Given the description of an element on the screen output the (x, y) to click on. 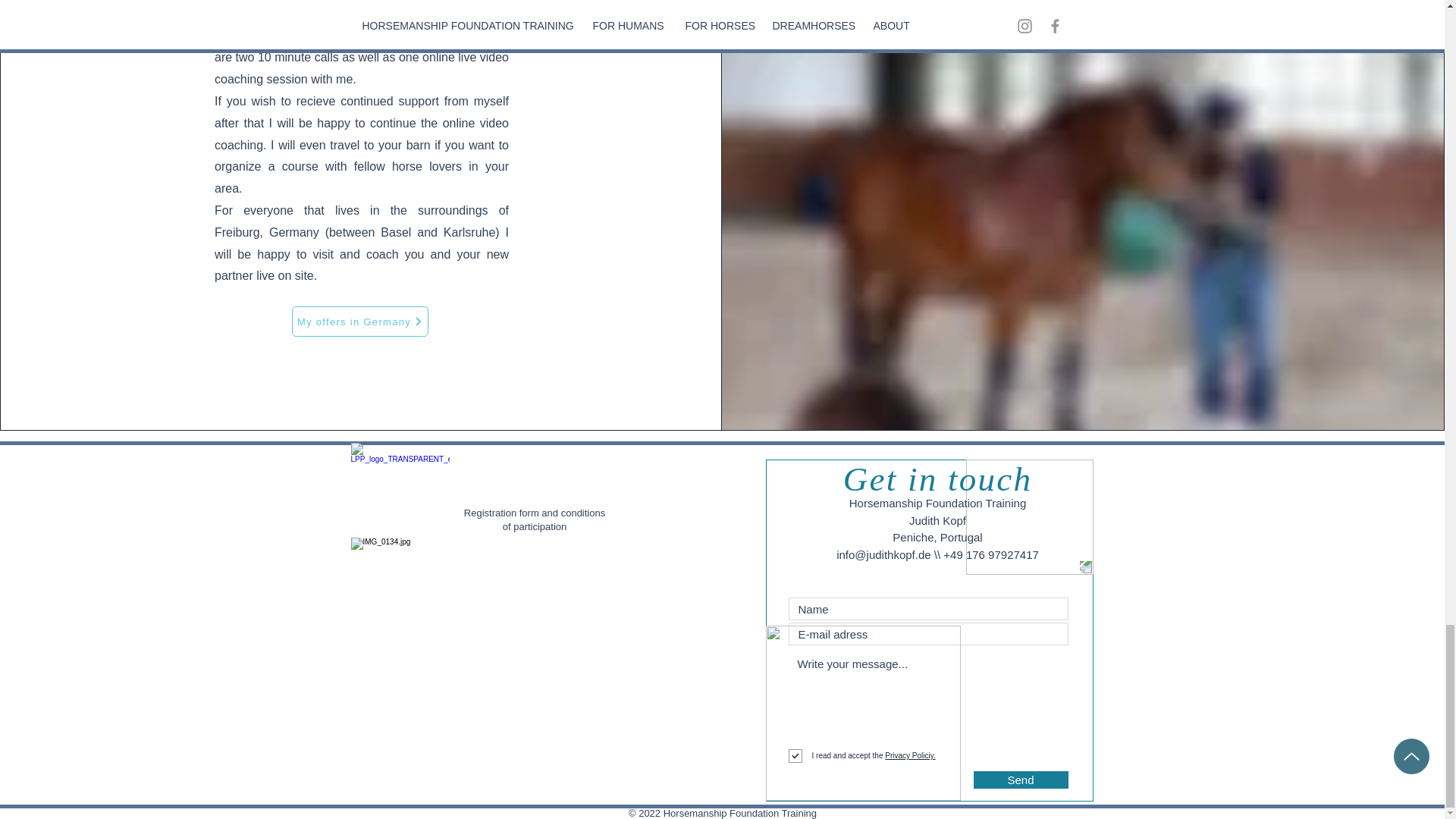
My offers in Germany (360, 321)
Privacy Policiy. (908, 755)
Send (1021, 779)
